Given the description of an element on the screen output the (x, y) to click on. 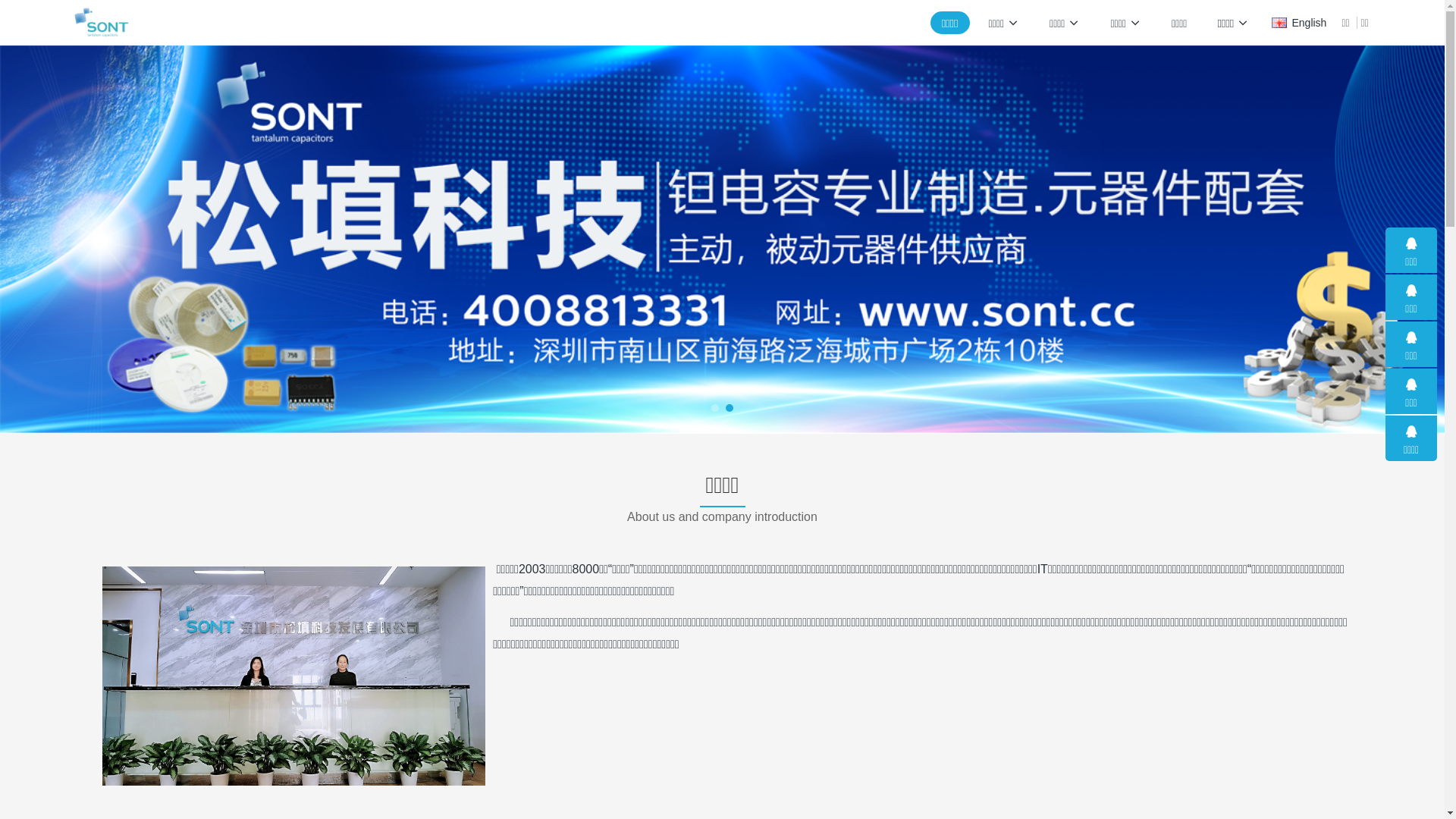
English Element type: text (1298, 21)
1650442066298576.jpg Element type: hover (293, 675)
